Given the description of an element on the screen output the (x, y) to click on. 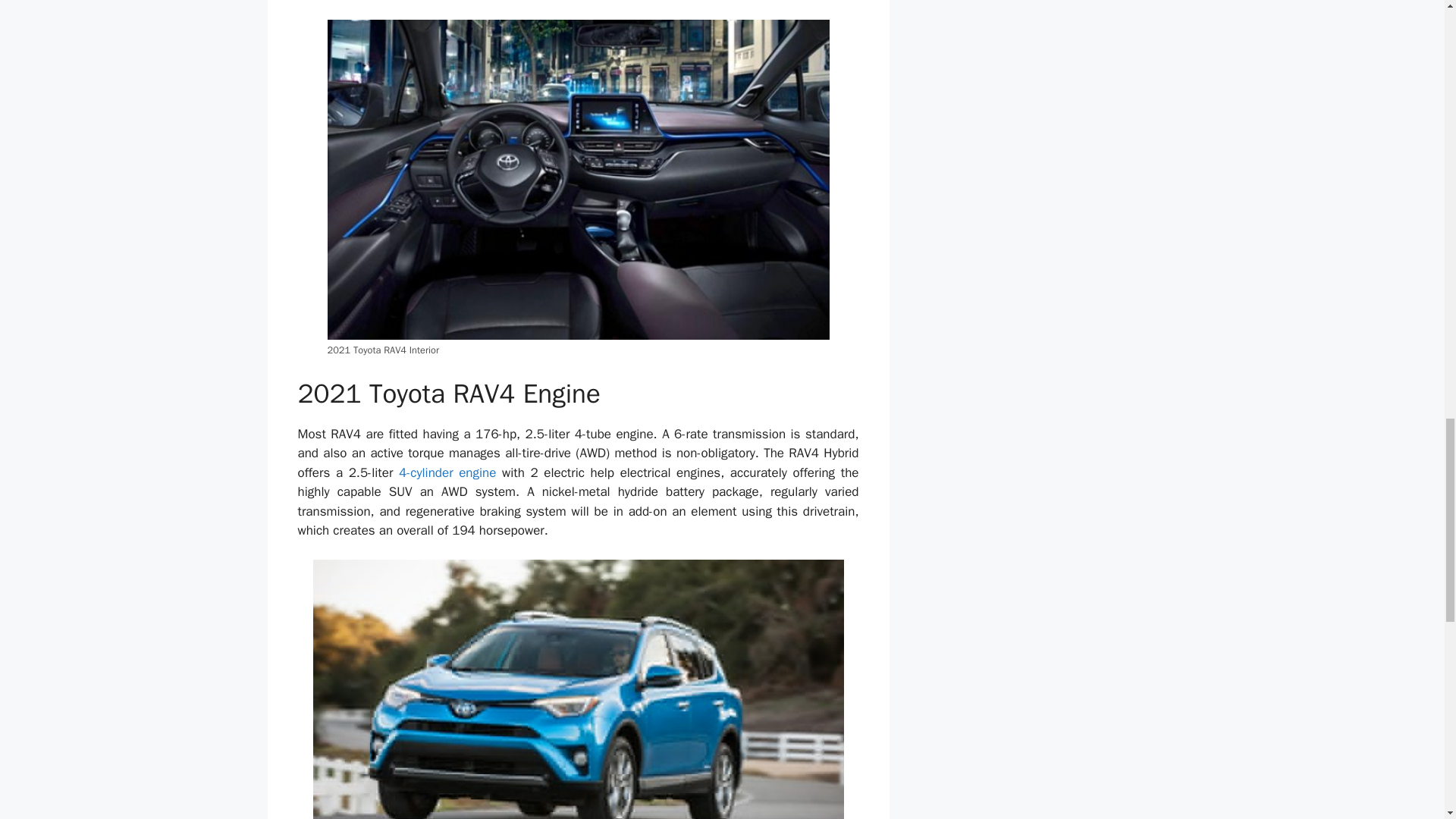
4-cylinder engine (447, 472)
